Given the description of an element on the screen output the (x, y) to click on. 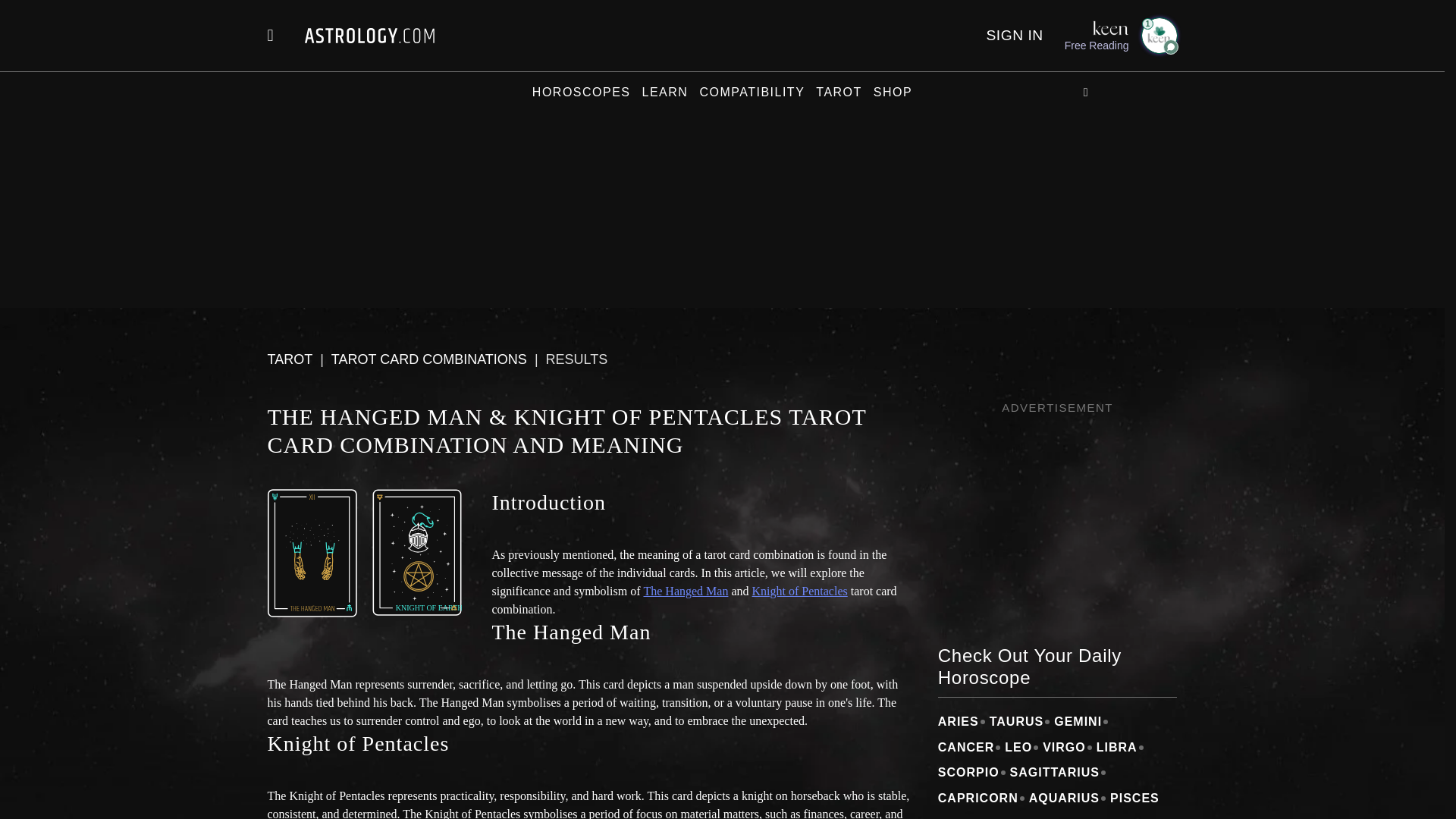
SIGN IN (1013, 35)
1 (1158, 35)
